Given the description of an element on the screen output the (x, y) to click on. 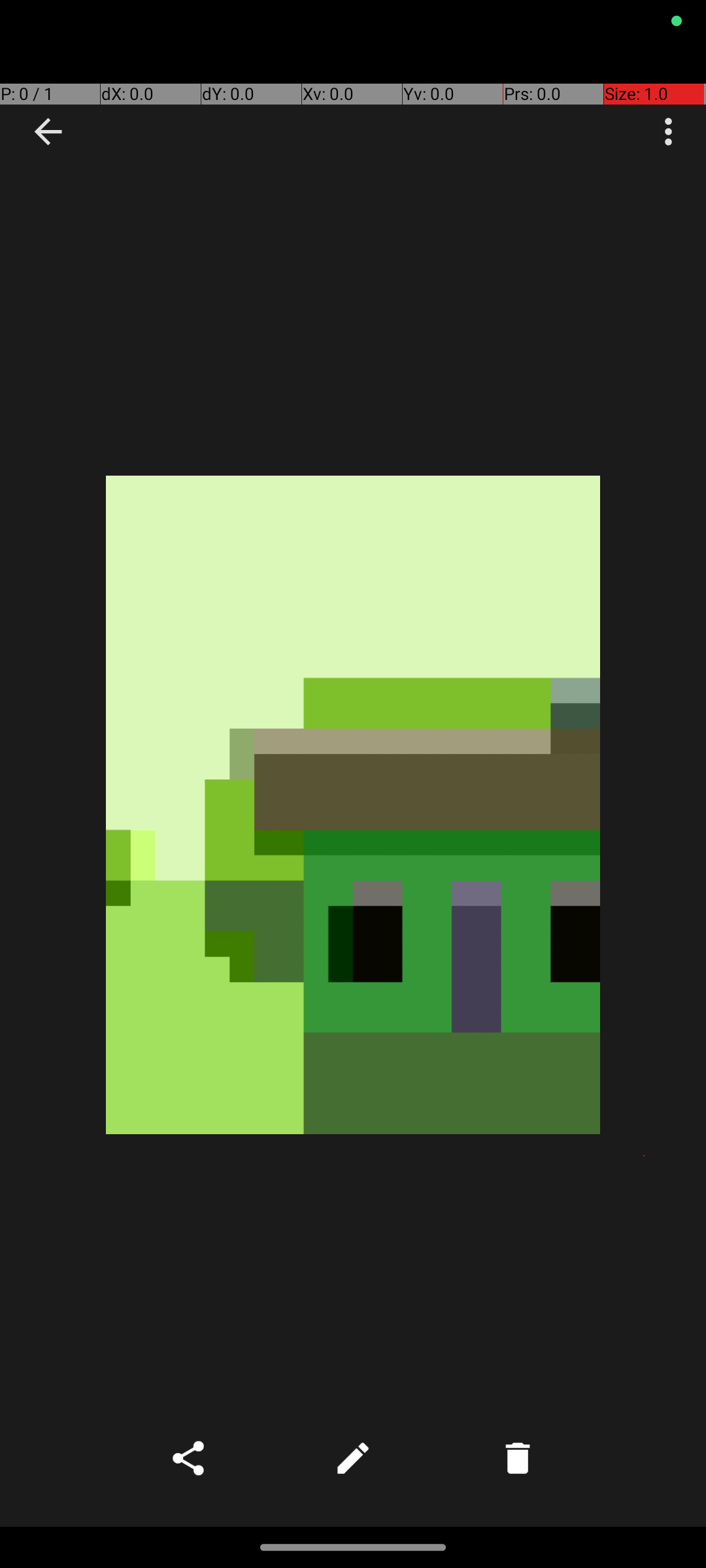
Photo taken on Oct 15, 2023 15:34:57 Element type: android.widget.ImageView (352, 804)
